Given the description of an element on the screen output the (x, y) to click on. 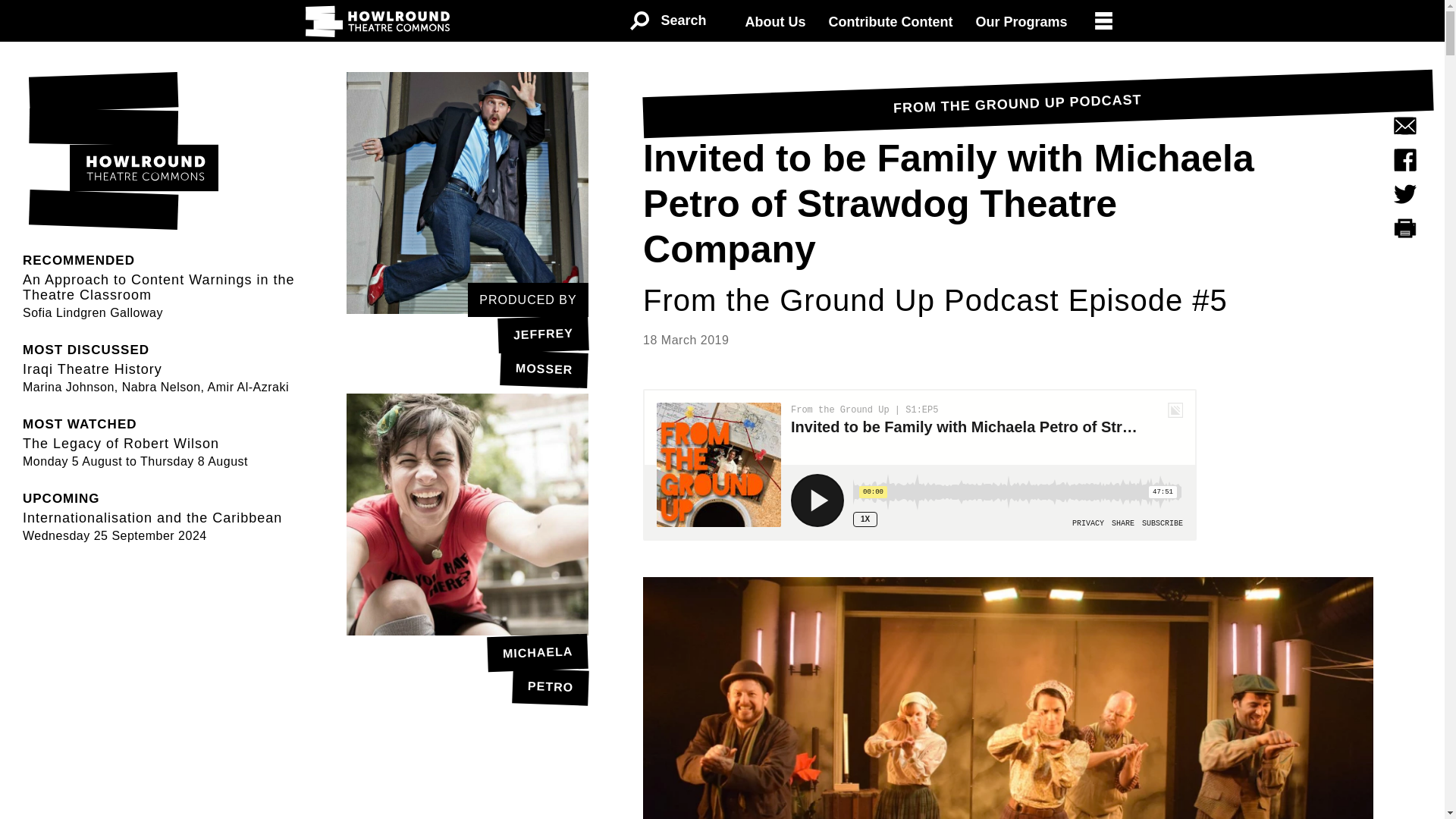
Search (467, 669)
audio for From the Ground Up, season one, episode five (667, 20)
Contribute Content (919, 464)
Our Programs (467, 350)
